Given the description of an element on the screen output the (x, y) to click on. 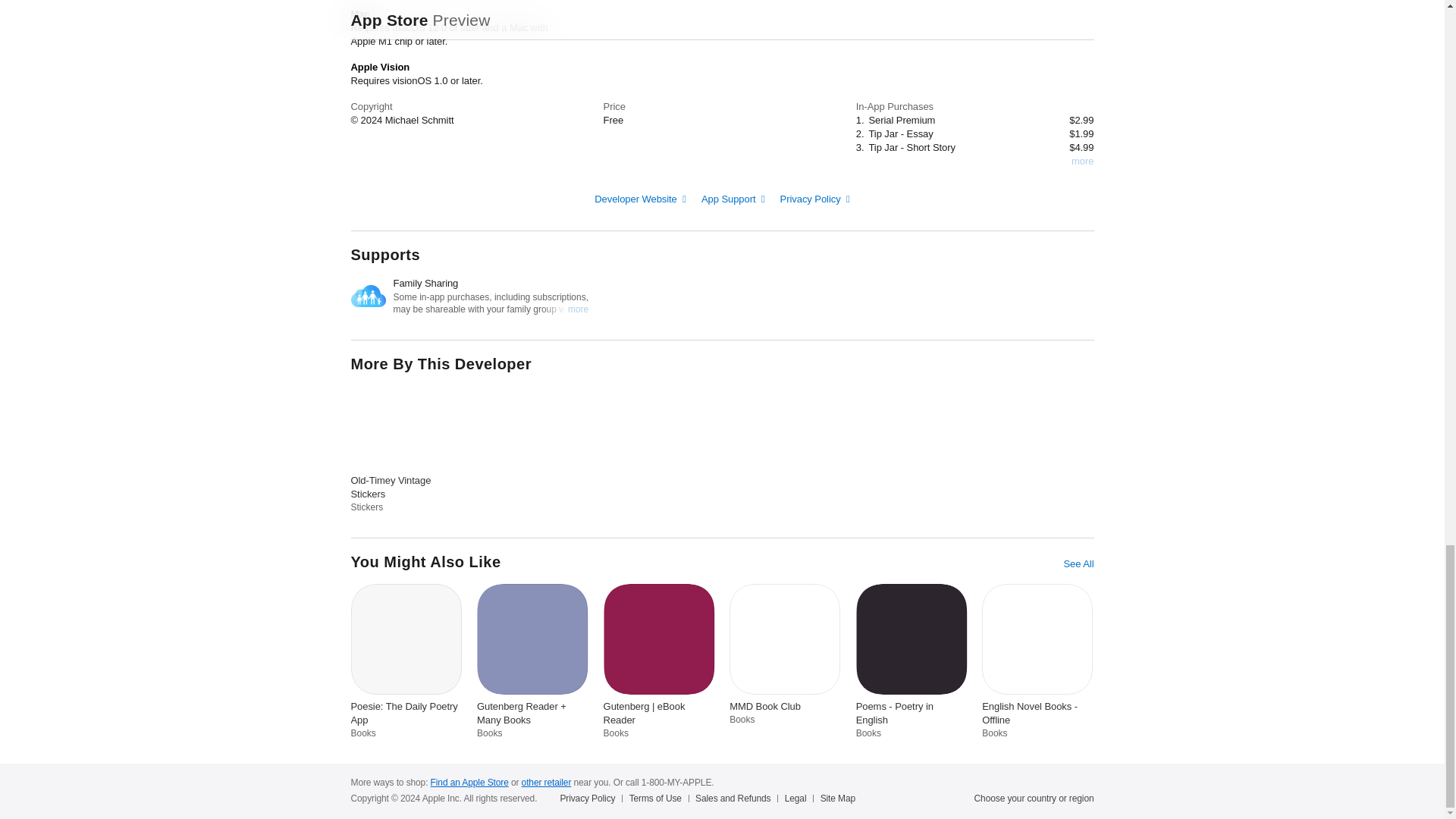
Choose your country or region (1034, 798)
Developer Website (639, 197)
App Support (733, 197)
Privacy Policy (815, 197)
more (1082, 161)
